Given the description of an element on the screen output the (x, y) to click on. 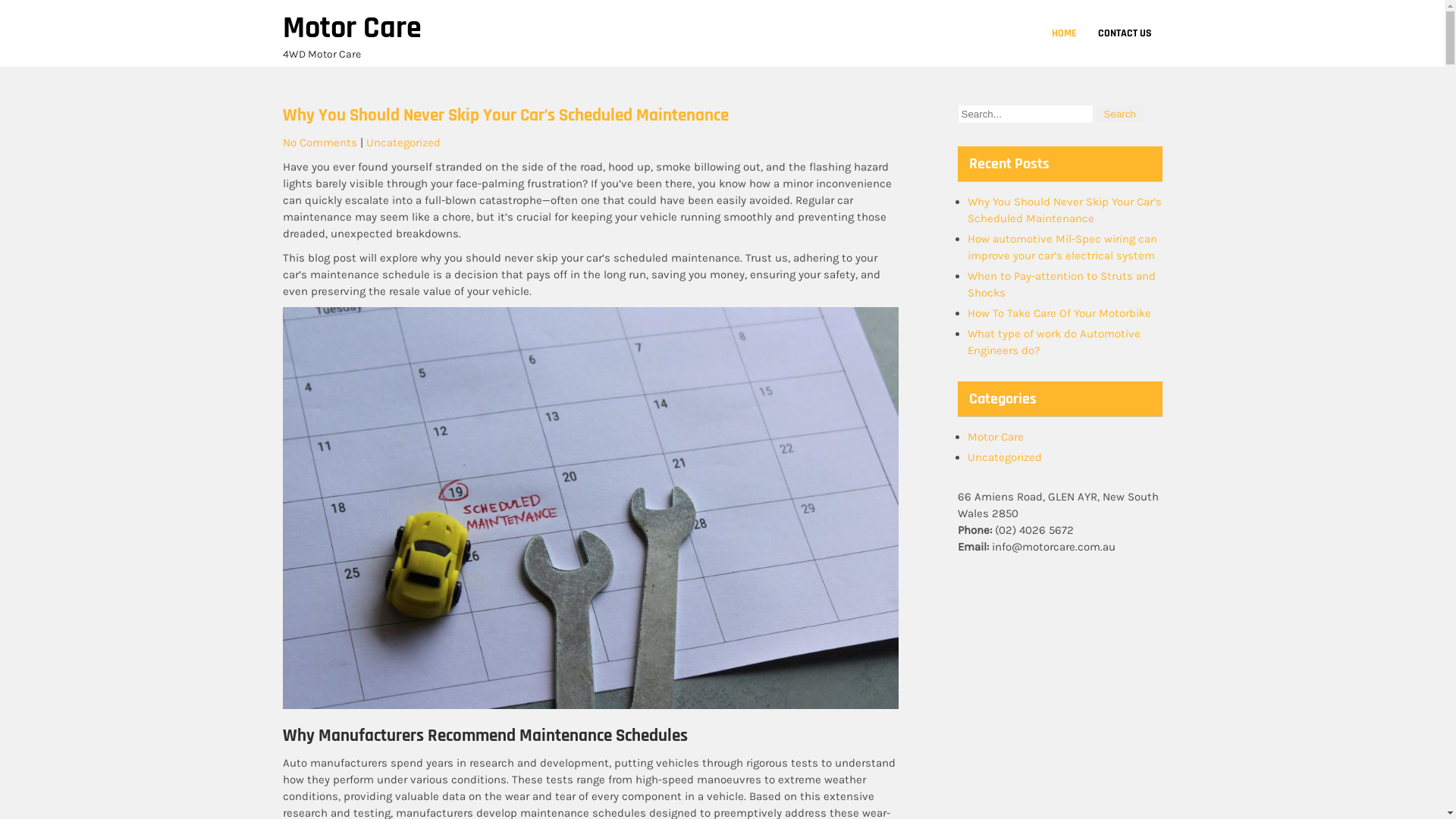
What type of work do Automotive Engineers do? Element type: text (1053, 341)
CONTACT US Element type: text (1124, 33)
How To Take Care Of Your Motorbike Element type: text (1059, 313)
When to Pay-attention to Struts and Shocks Element type: text (1061, 284)
Motor Care Element type: text (995, 436)
Uncategorized Element type: text (1004, 457)
Search Element type: text (1119, 113)
Uncategorized Element type: text (402, 142)
Motor Care Element type: text (351, 28)
No Comments Element type: text (319, 142)
HOME Element type: text (1063, 33)
